Given the description of an element on the screen output the (x, y) to click on. 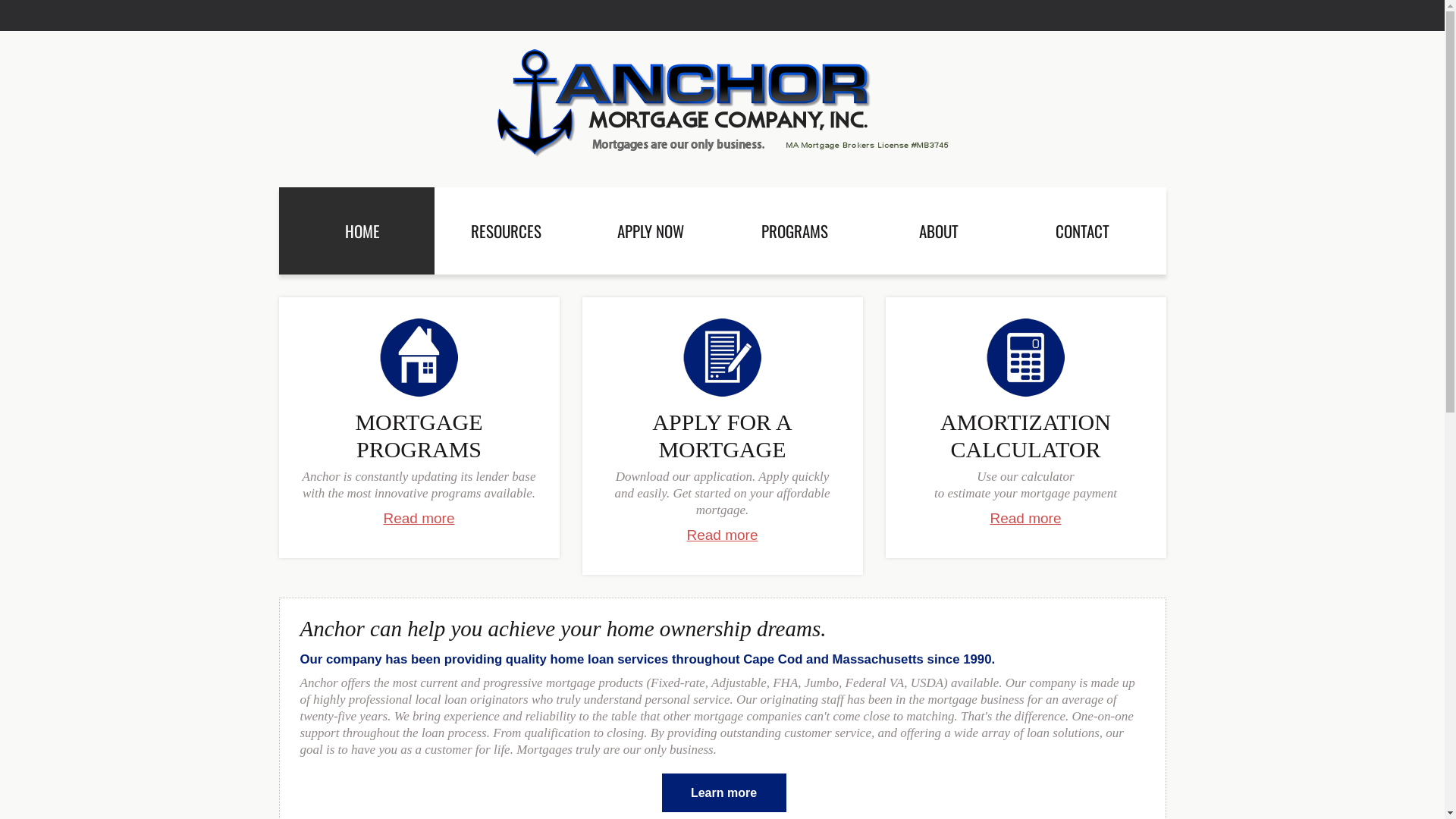
APPLY NOW Element type: text (649, 230)
Read more Element type: text (1025, 518)
Learn more Element type: text (723, 792)
CONTACT Element type: text (1087, 230)
PROGRAMS Element type: text (793, 230)
Read more Element type: text (419, 518)
Read more Element type: text (722, 535)
RESOURCES Element type: text (505, 230)
ABOUT Element type: text (938, 230)
HOME Element type: text (356, 230)
